Given the description of an element on the screen output the (x, y) to click on. 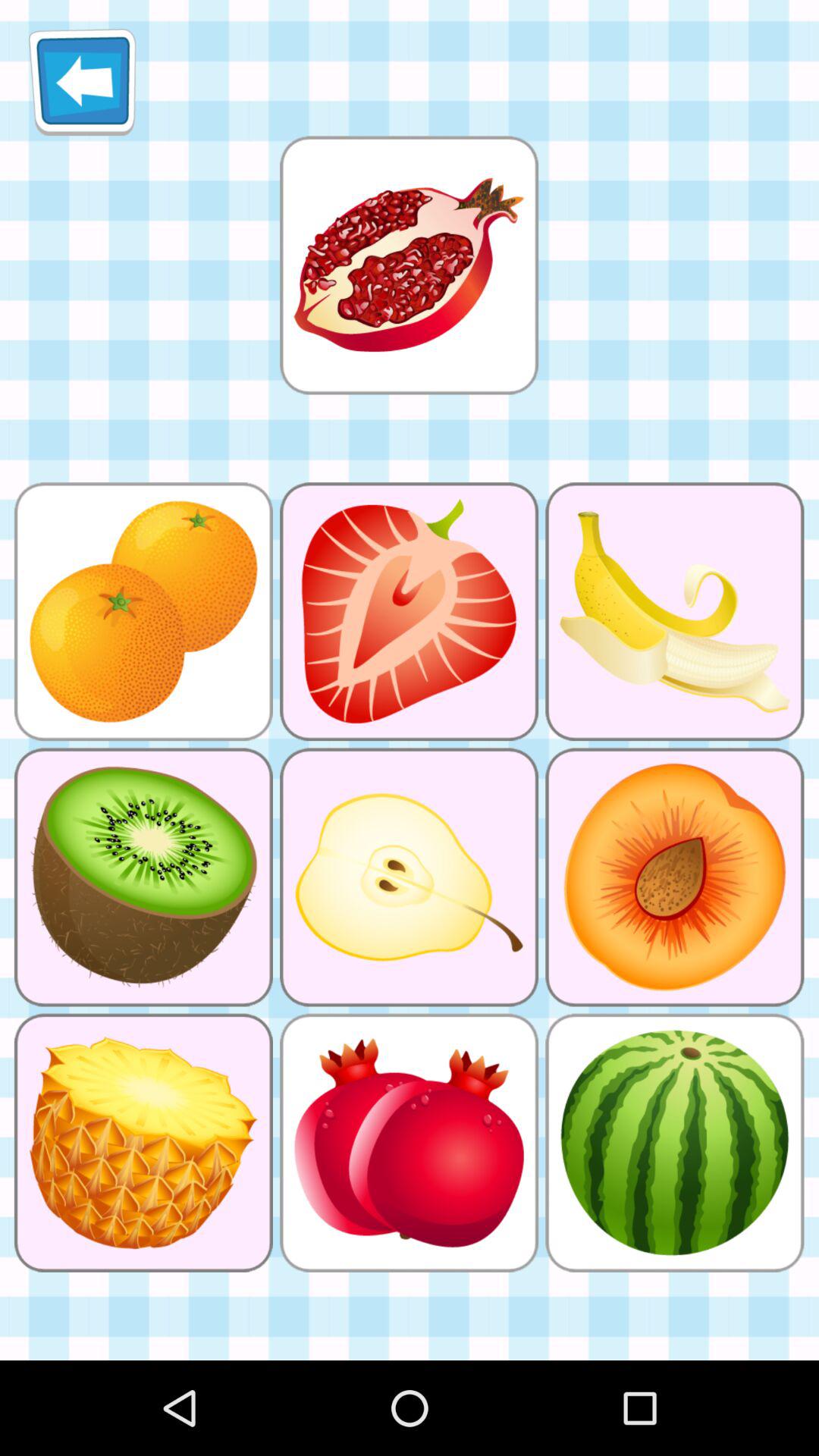
pomegranate (409, 265)
